Given the description of an element on the screen output the (x, y) to click on. 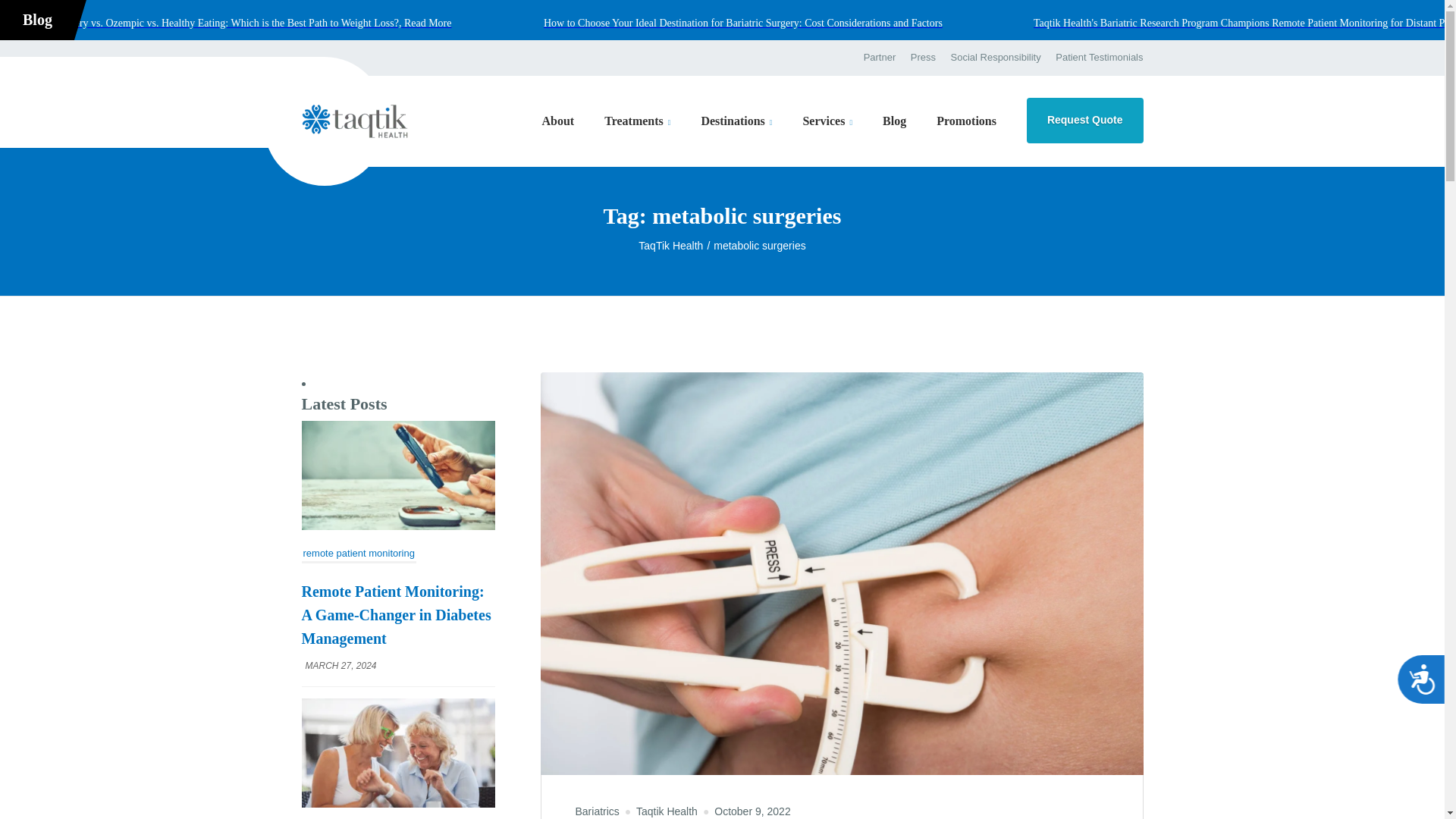
Partner (882, 58)
Press (923, 58)
Social Responsibility (995, 58)
Patient Testimonials (1095, 58)
Go to the metabolic surgeries Tag archives. (759, 245)
Treatments (637, 120)
Destinations (736, 120)
Treatments (637, 120)
Go to TaqTik Health. (676, 245)
